Given the description of an element on the screen output the (x, y) to click on. 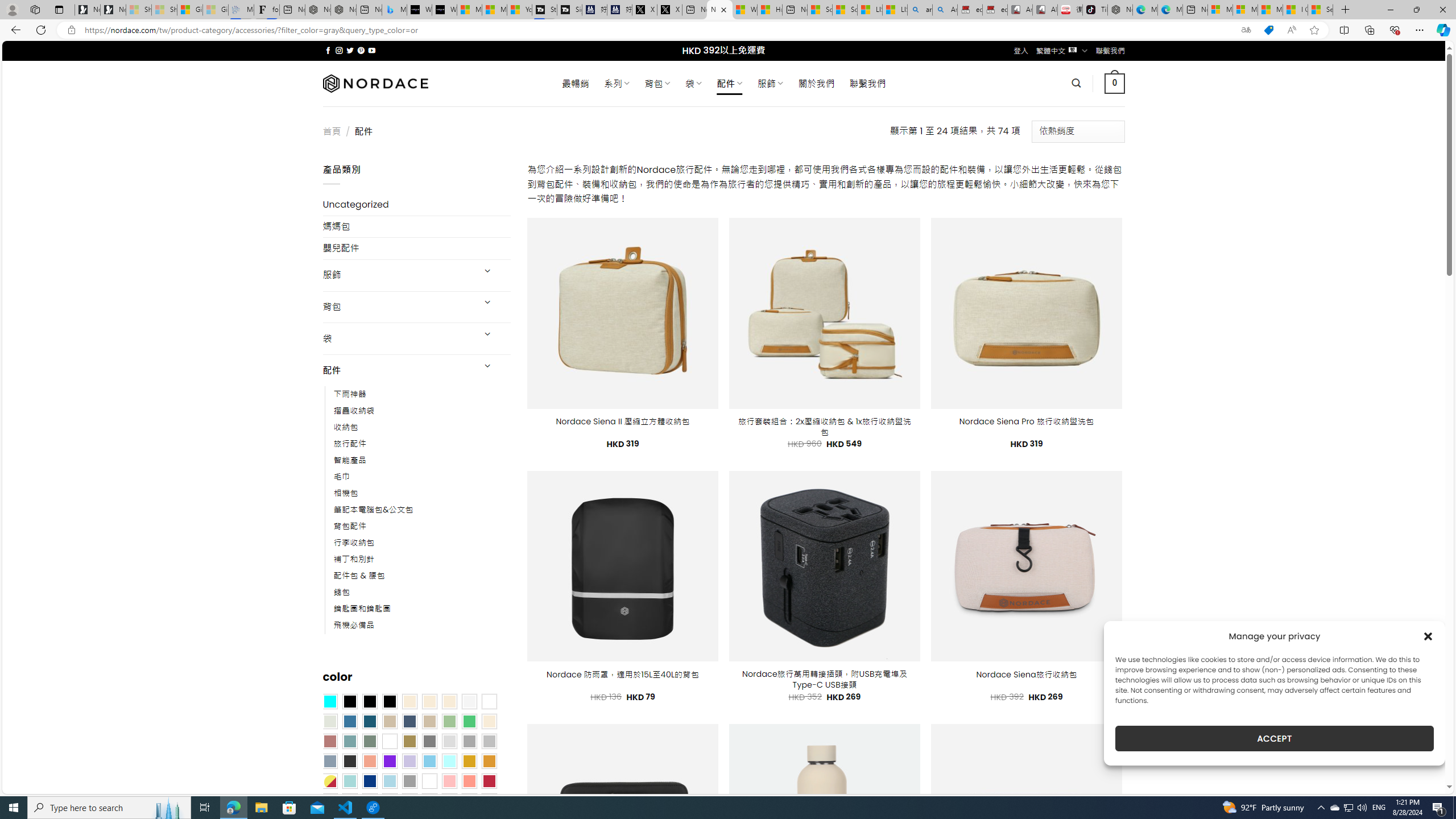
Wildlife - MSN (744, 9)
Microsoft account | Privacy (1244, 9)
Follow on Facebook (327, 50)
